Given the description of an element on the screen output the (x, y) to click on. 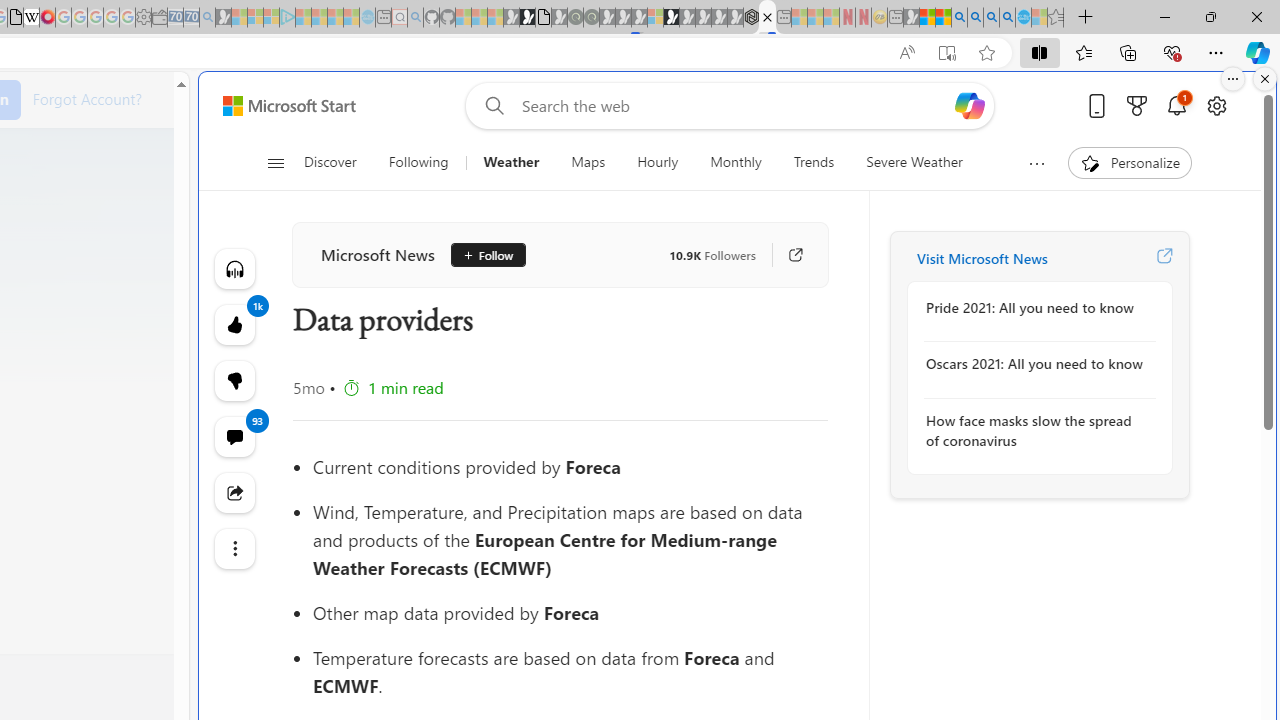
Nordace - Cooler Bags (751, 17)
Add this page to favorites (Ctrl+D) (986, 53)
Open settings (1216, 105)
Visit Microsoft News website (1164, 258)
View comments 93 Comment (234, 436)
Copilot (Ctrl+Shift+.) (1258, 52)
Home | Sky Blue Bikes - Sky Blue Bikes - Sleeping (367, 17)
Share this story (234, 492)
Microsoft Start (288, 105)
1k (234, 380)
